Given the description of an element on the screen output the (x, y) to click on. 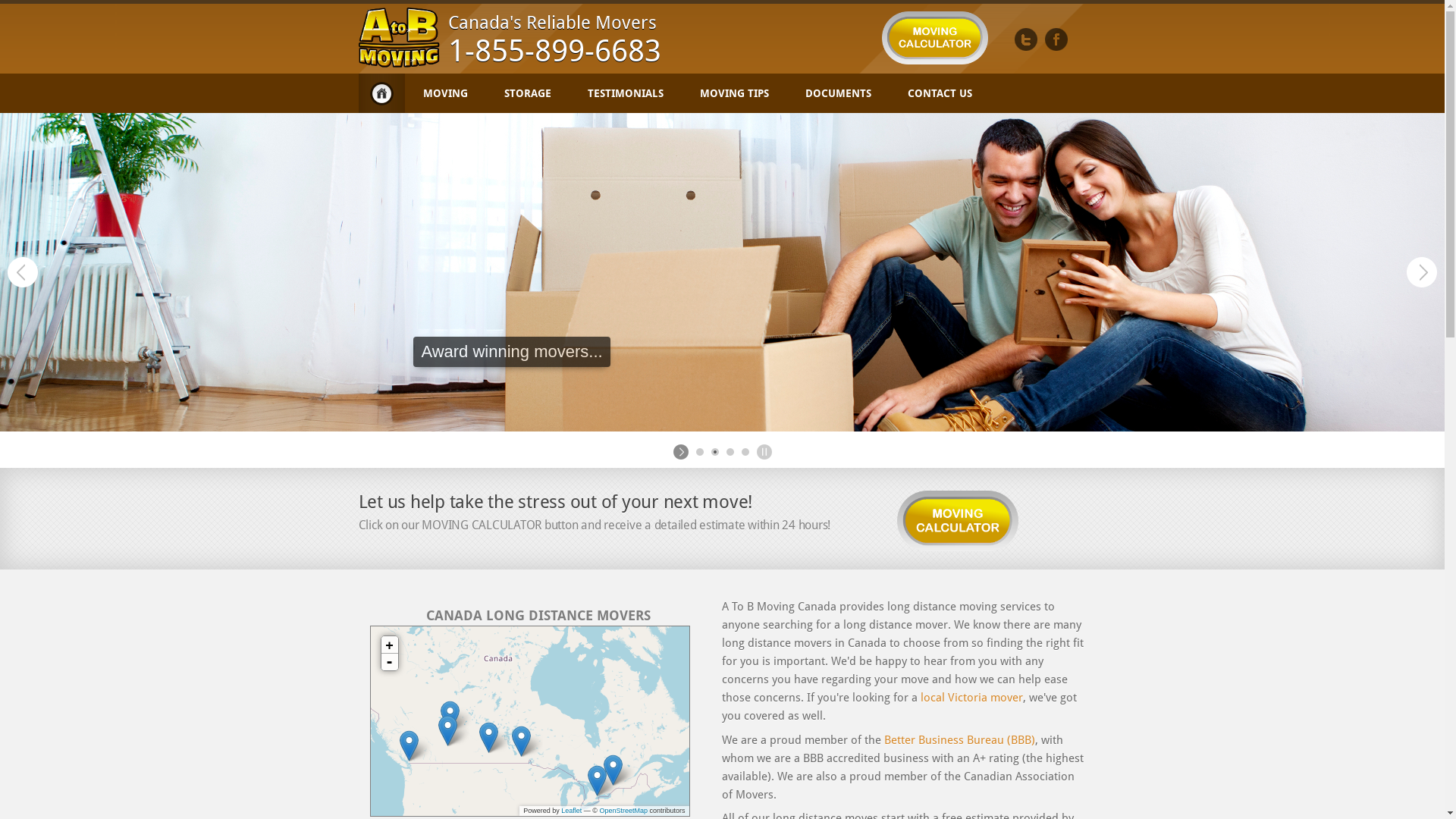
HOME Element type: text (380, 92)
STORAGE Element type: text (526, 92)
Leaflet Element type: text (571, 810)
Better Business Bureau (BBB) Element type: text (959, 739)
DOCUMENTS Element type: text (838, 92)
MOVING Element type: text (445, 92)
- Element type: text (388, 661)
Follow us! Element type: hover (1025, 39)
TESTIMONIALS Element type: text (624, 92)
CONTACT US Element type: text (938, 92)
MOVING TIPS Element type: text (733, 92)
+ Element type: text (388, 644)
OpenStreetMap Element type: text (623, 810)
local Victoria mover Element type: text (971, 697)
